Given the description of an element on the screen output the (x, y) to click on. 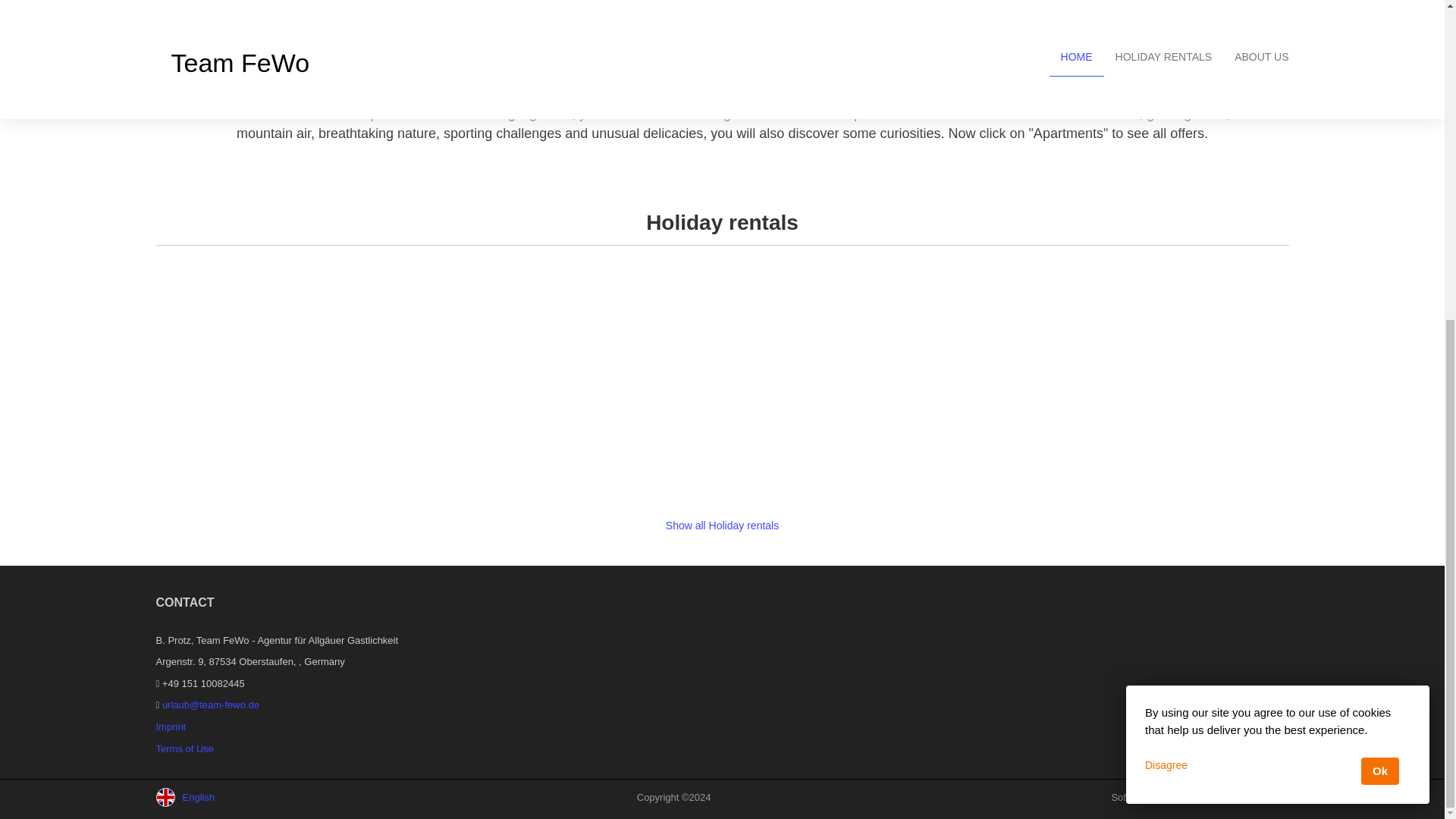
Imprint (170, 726)
Close (1277, 247)
English (216, 797)
Smoobu (1270, 797)
I Accept (1380, 252)
Show all Holiday rentals (721, 525)
Terms of Use (184, 748)
Disagree (1166, 246)
